Given the description of an element on the screen output the (x, y) to click on. 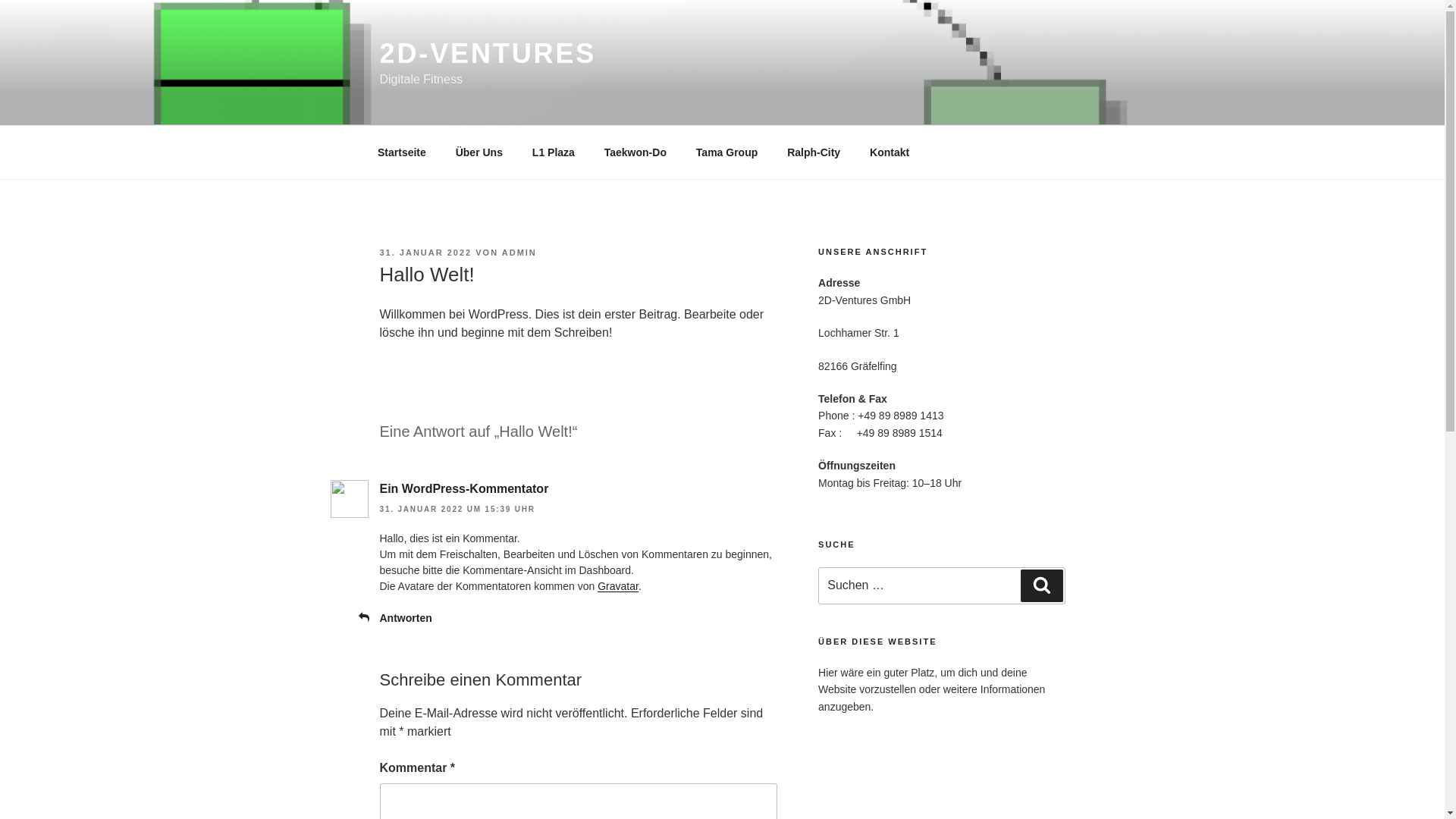
Gravatar Element type: text (617, 586)
Startseite Element type: text (401, 151)
Tama Group Element type: text (726, 151)
Antworten Element type: text (405, 617)
ADMIN Element type: text (519, 252)
Taekwon-Do Element type: text (634, 151)
Ein WordPress-Kommentator Element type: text (463, 488)
L1 Plaza Element type: text (552, 151)
2D-VENTURES Element type: text (487, 53)
Suchen Element type: text (1041, 585)
31. JANUAR 2022 UM 15:39 UHR Element type: text (456, 509)
Kontakt Element type: text (889, 151)
Ralph-City Element type: text (813, 151)
31. JANUAR 2022 Element type: text (425, 252)
